Given the description of an element on the screen output the (x, y) to click on. 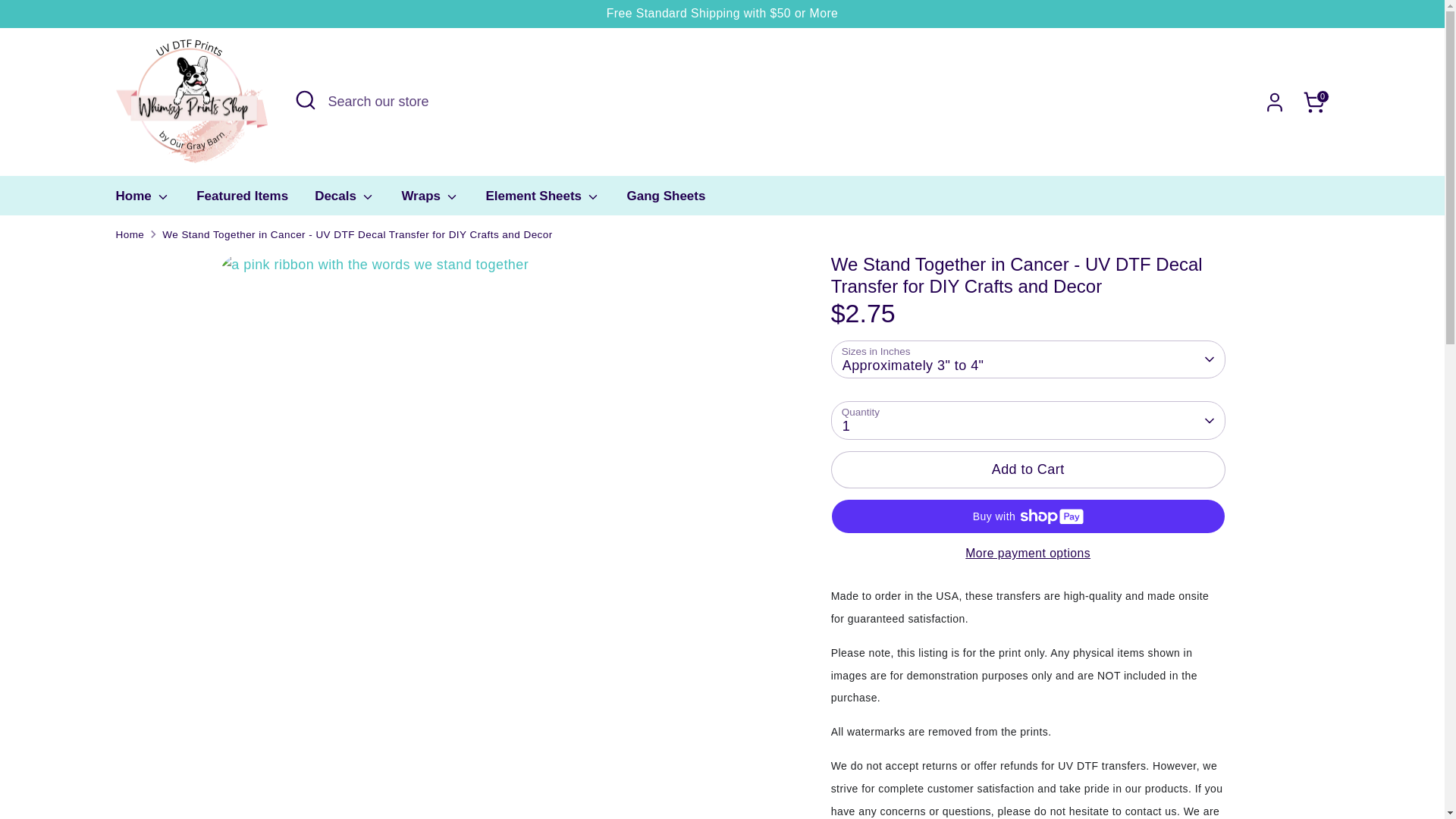
0 (1312, 101)
